Given the description of an element on the screen output the (x, y) to click on. 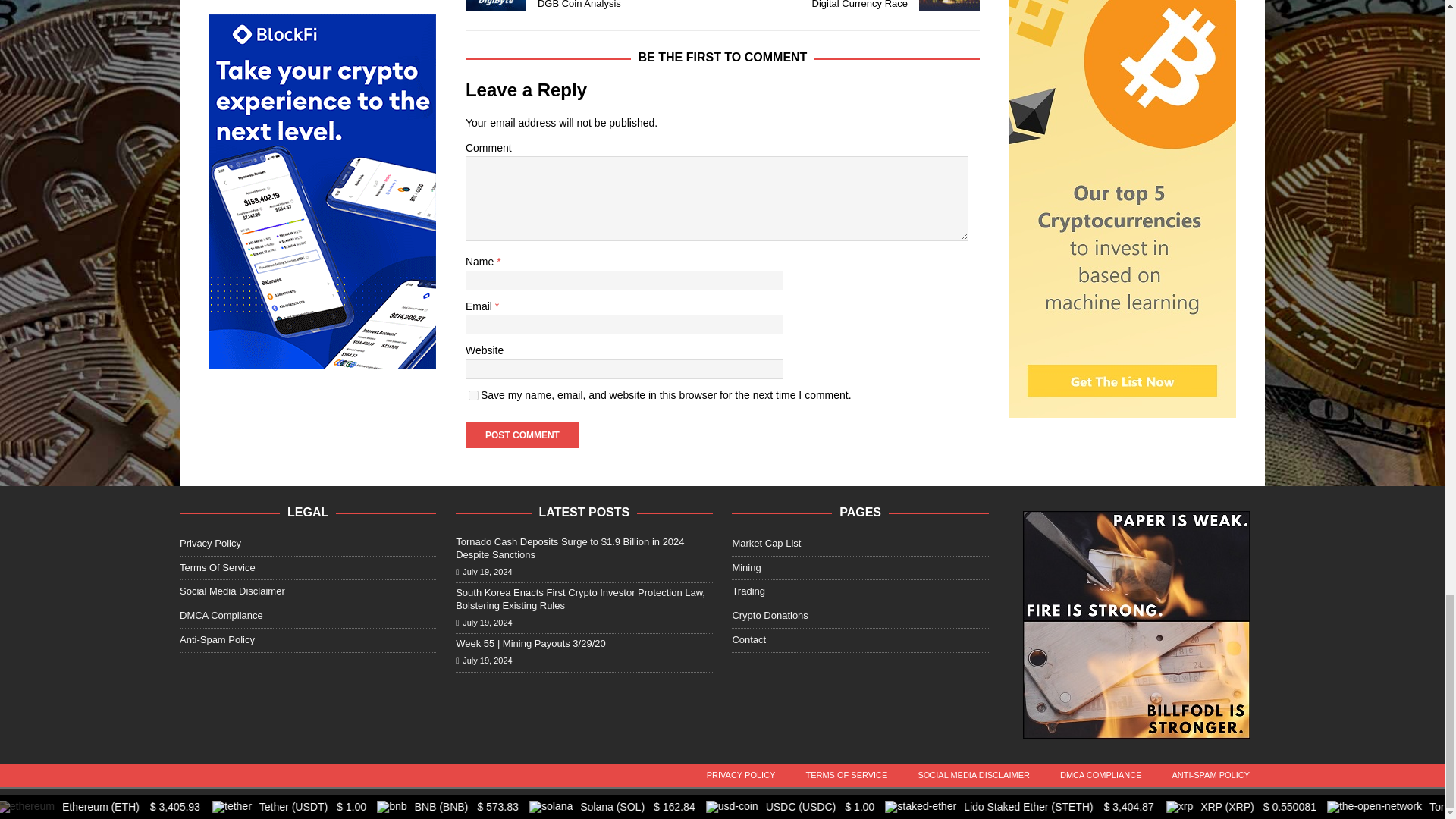
Post Comment (522, 434)
yes (473, 395)
